Given the description of an element on the screen output the (x, y) to click on. 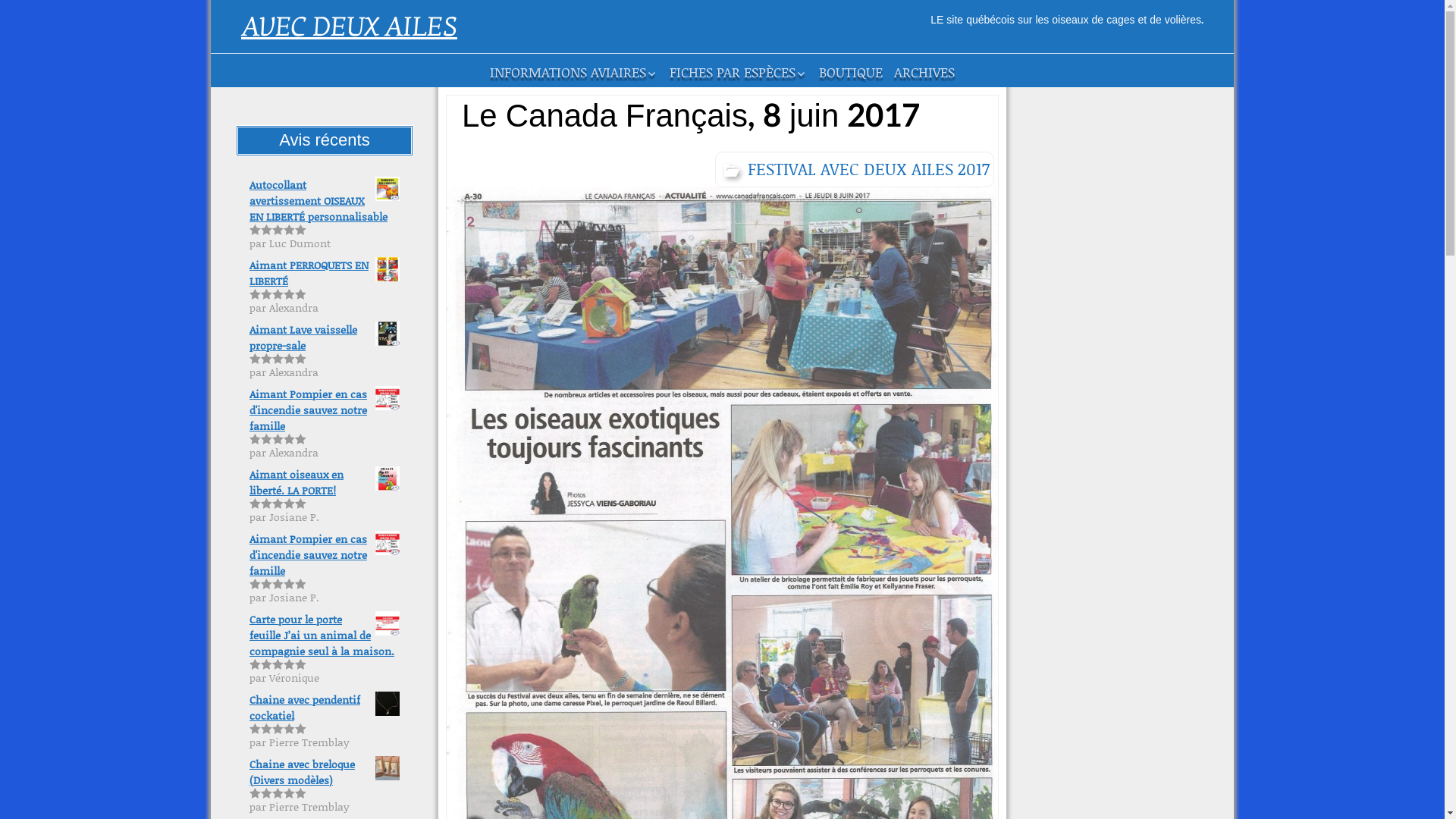
BOUTIQUE Element type: text (850, 71)
INFORMATIONS AVIAIRES Element type: text (574, 72)
ARCHIVES Element type: text (924, 71)
AVEC DEUX AILES Element type: text (348, 26)
Chaine avec pendentif cockatiel Element type: text (324, 707)
FESTIVAL AVEC DEUX AILES 2017 Element type: text (854, 169)
Aimant Pompier en cas d'incendie sauvez notre famille Element type: text (324, 409)
La Polyfoliculite Element type: text (562, 98)
Caille de chine ou caille peinte Element type: text (742, 104)
Aimant Lave vaisselle propre-sale Element type: text (324, 337)
Aimant Pompier en cas d'incendie sauvez notre famille Element type: text (324, 554)
